Given the description of an element on the screen output the (x, y) to click on. 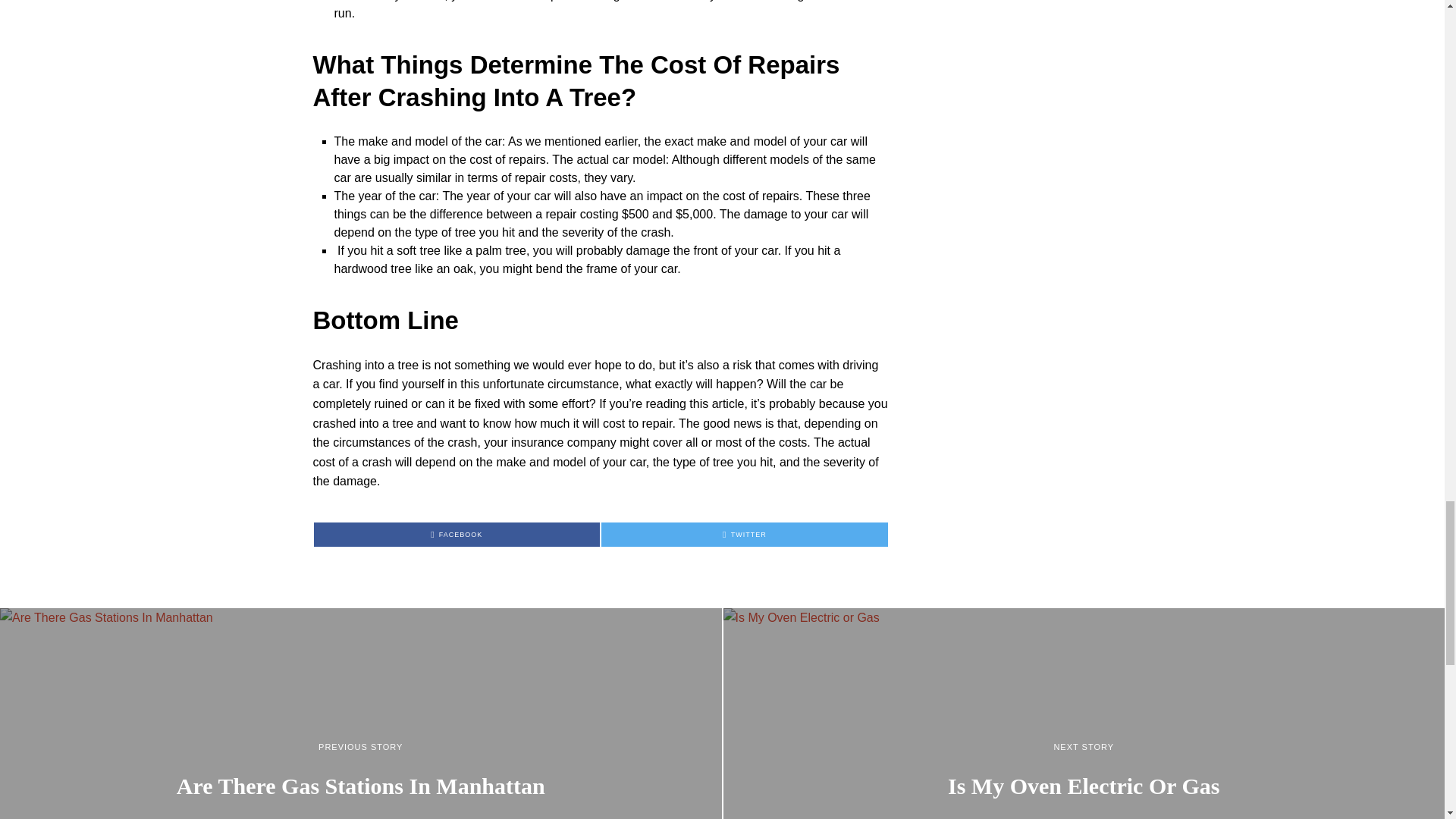
Facebook (456, 534)
FACEBOOK (456, 534)
Twitter (744, 534)
TWITTER (744, 534)
